Given the description of an element on the screen output the (x, y) to click on. 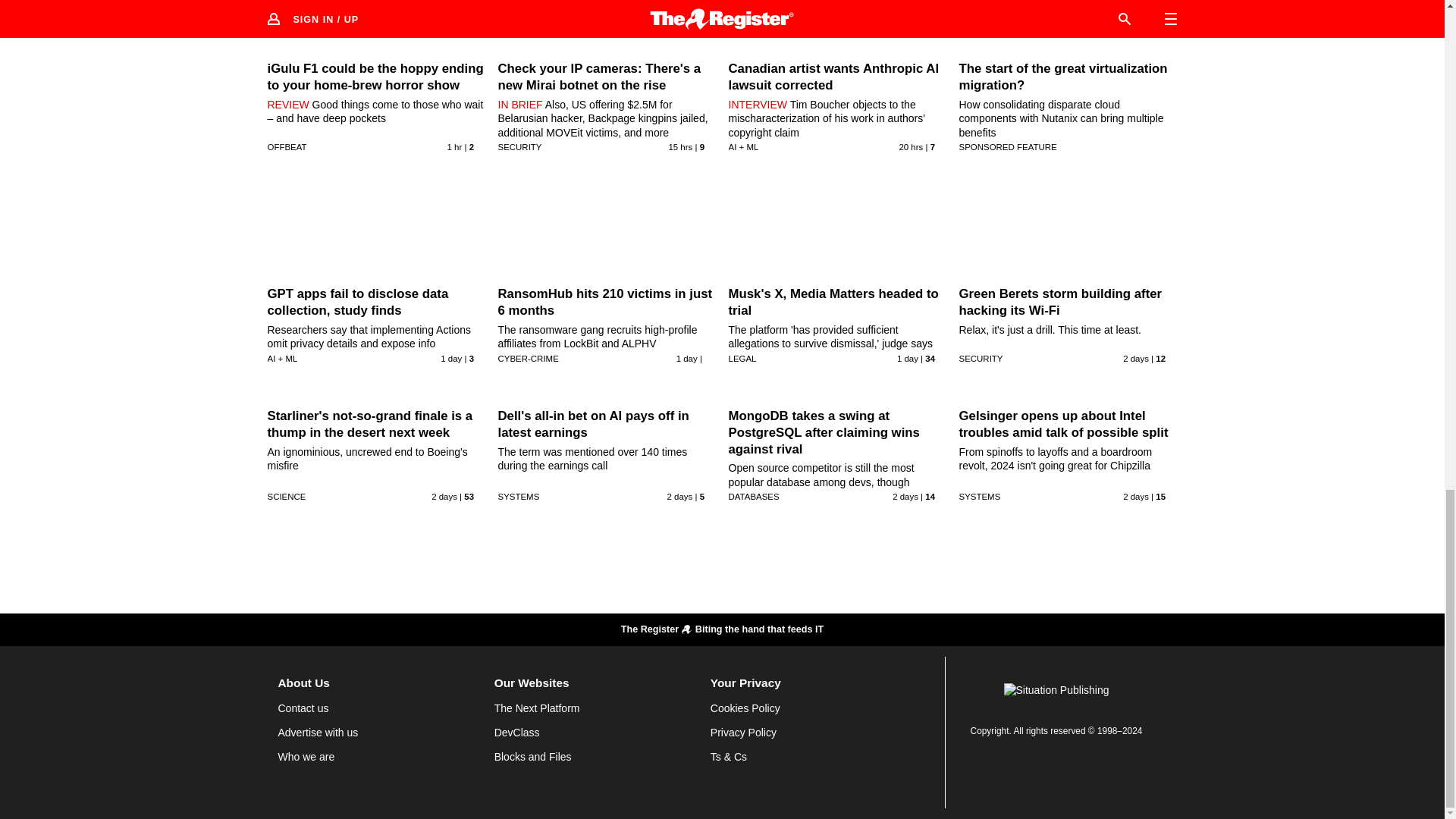
30 Aug 2024 19:0 (679, 496)
1 Sep 2024 8:30 (454, 146)
31 Aug 2024 13:29 (910, 146)
31 Aug 2024 18:22 (680, 146)
30 Aug 2024 20:30 (443, 496)
30 Aug 2024 22:30 (907, 358)
30 Aug 2024 23:55 (687, 358)
31 Aug 2024 5:0 (451, 358)
30 Aug 2024 21:0 (1135, 358)
